Given the description of an element on the screen output the (x, y) to click on. 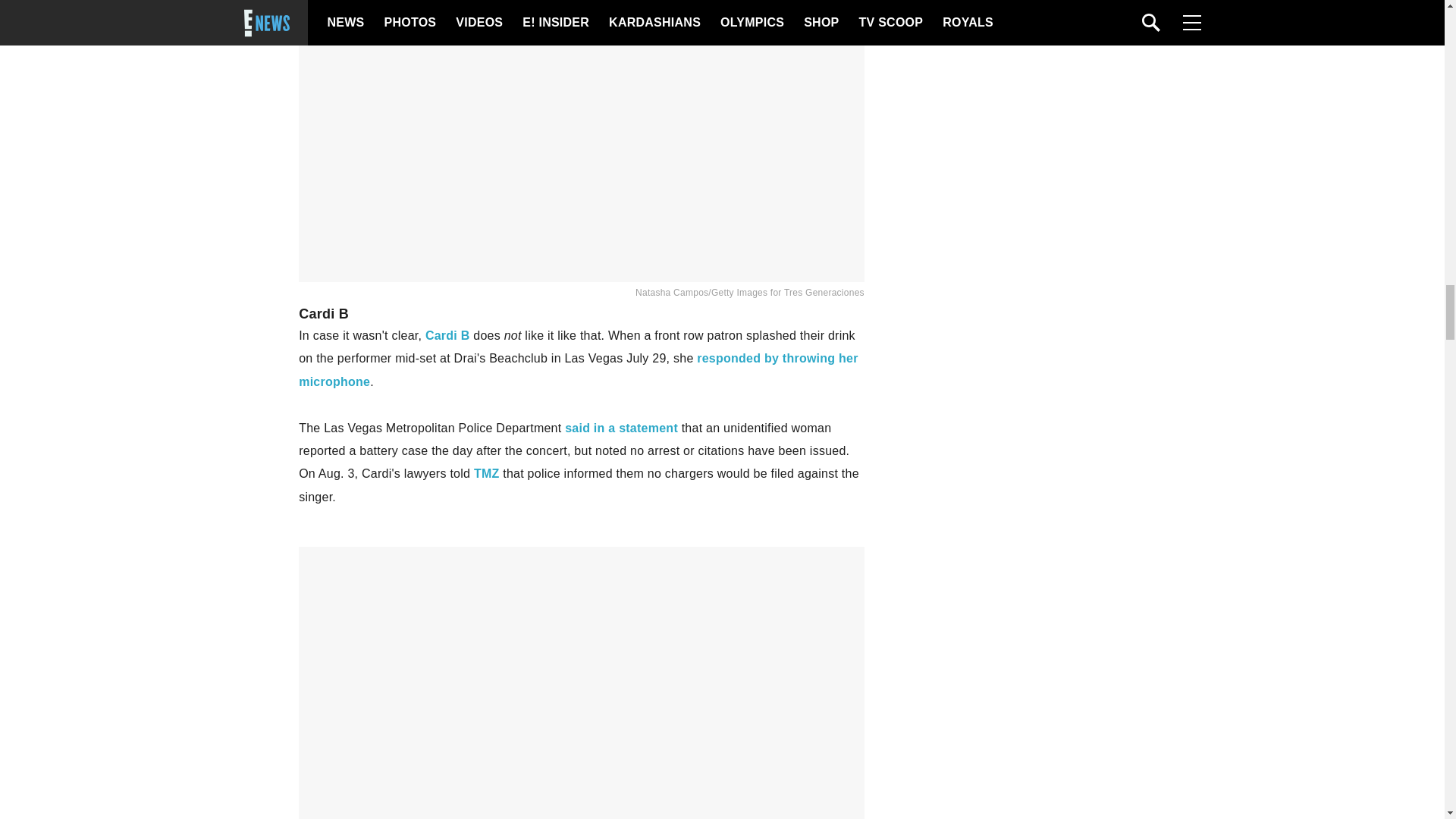
said in a statement (621, 427)
responded by throwing her microphone (578, 369)
TMZ (486, 472)
Cardi B (447, 335)
